Given the description of an element on the screen output the (x, y) to click on. 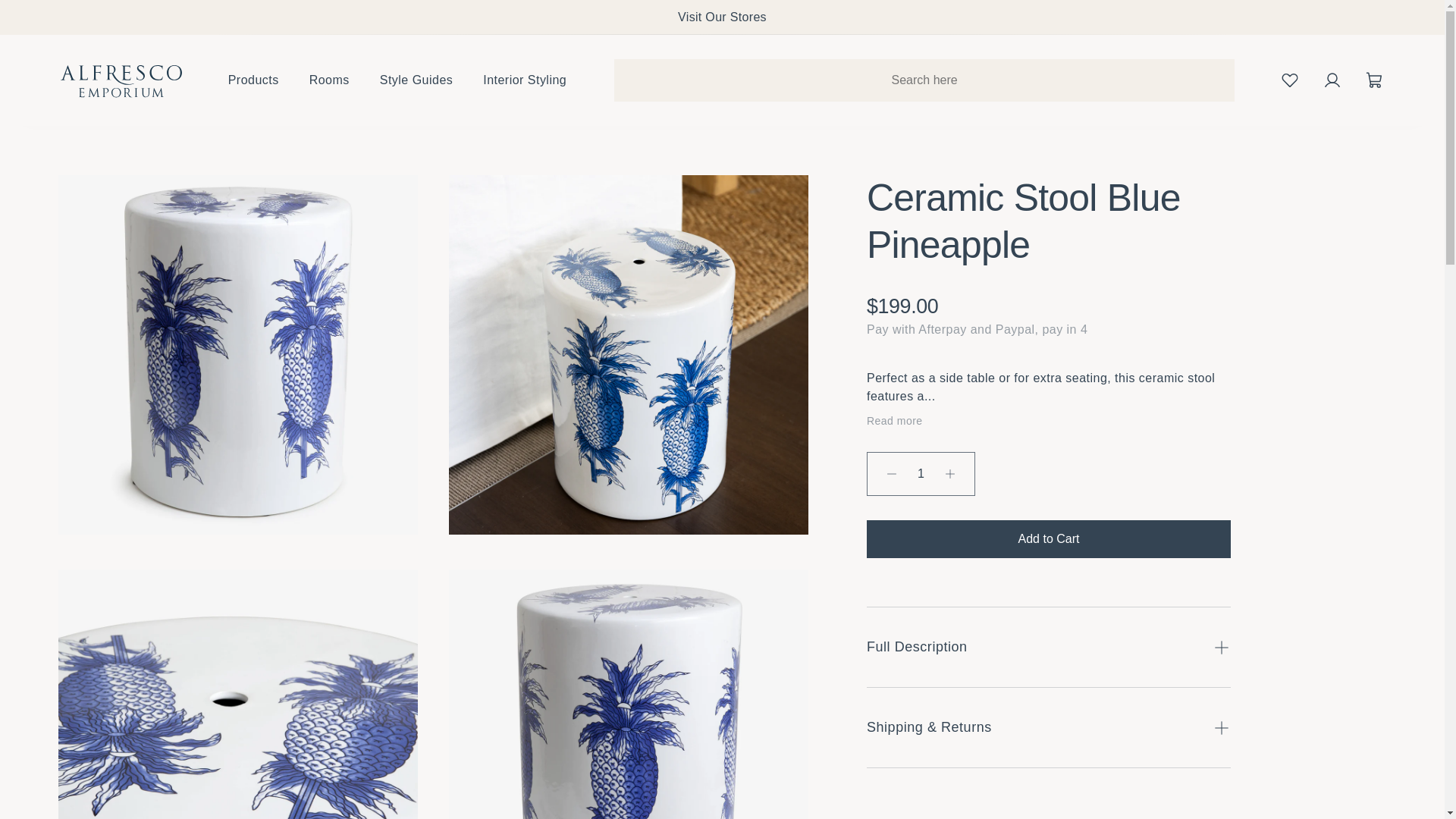
Products (253, 79)
Home (121, 80)
Interior Styling (524, 79)
Your cart (1374, 80)
Interior Styling (524, 79)
Account (1331, 80)
Rooms (328, 79)
Rooms (328, 79)
Products (253, 79)
Visit Our Stores (722, 16)
Style Guides (416, 79)
1 (920, 474)
Style Guides (416, 79)
Wishlist (1289, 80)
